Given the description of an element on the screen output the (x, y) to click on. 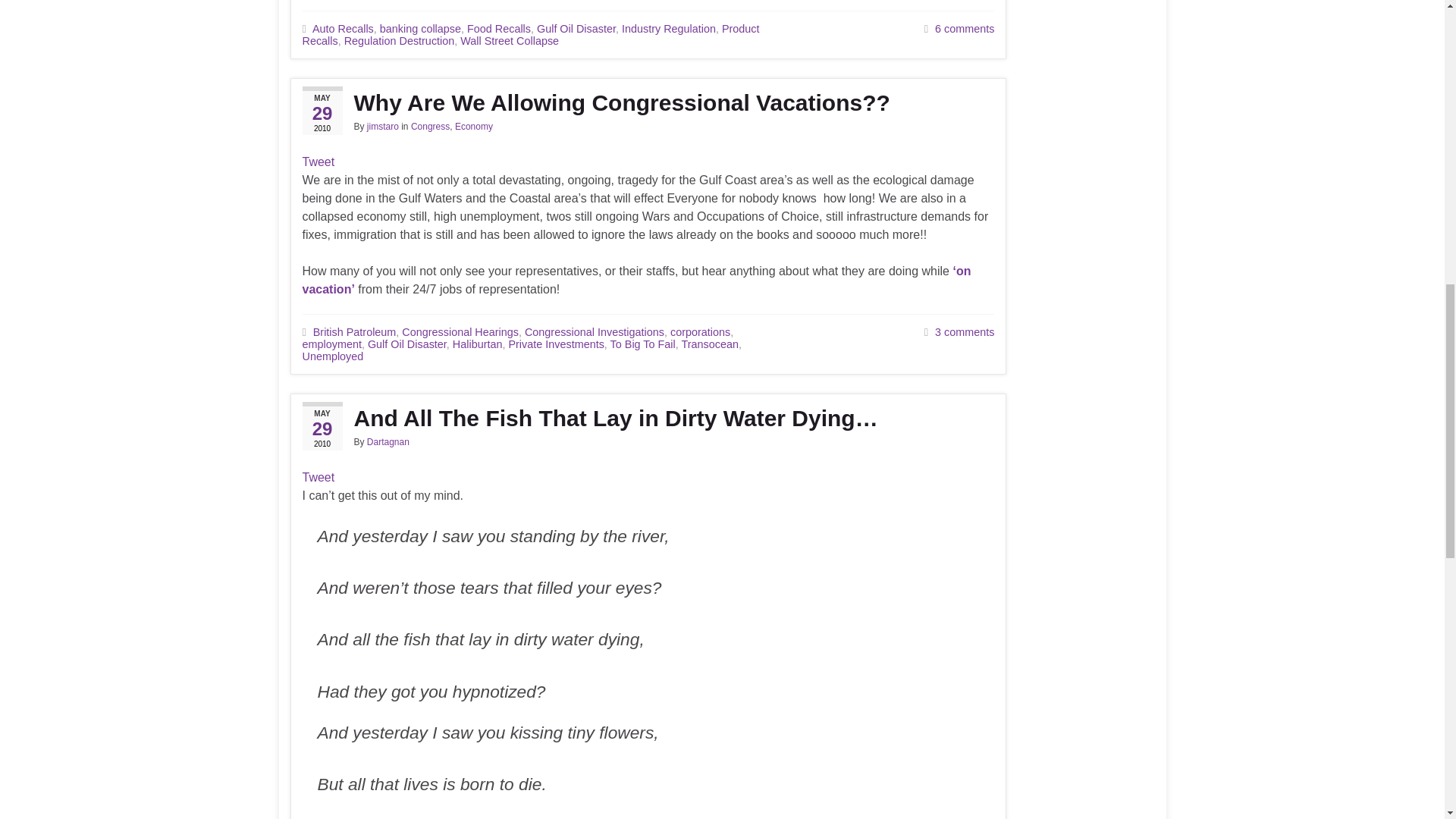
Gulf Oil Disaster (576, 28)
Wall Street Collapse (509, 40)
banking collapse (420, 28)
Congress (429, 126)
Economy (473, 126)
Tweet (317, 161)
Why Are We Allowing Congressional Vacations?? (647, 103)
Permalink to Why Are We Allowing Congressional Vacations?? (647, 103)
Regulation Destruction (398, 40)
Product Recalls (529, 34)
Industry Regulation (668, 28)
Auto Recalls (343, 28)
Food Recalls (499, 28)
British Patroleum (354, 331)
jimstaro (382, 126)
